Given the description of an element on the screen output the (x, y) to click on. 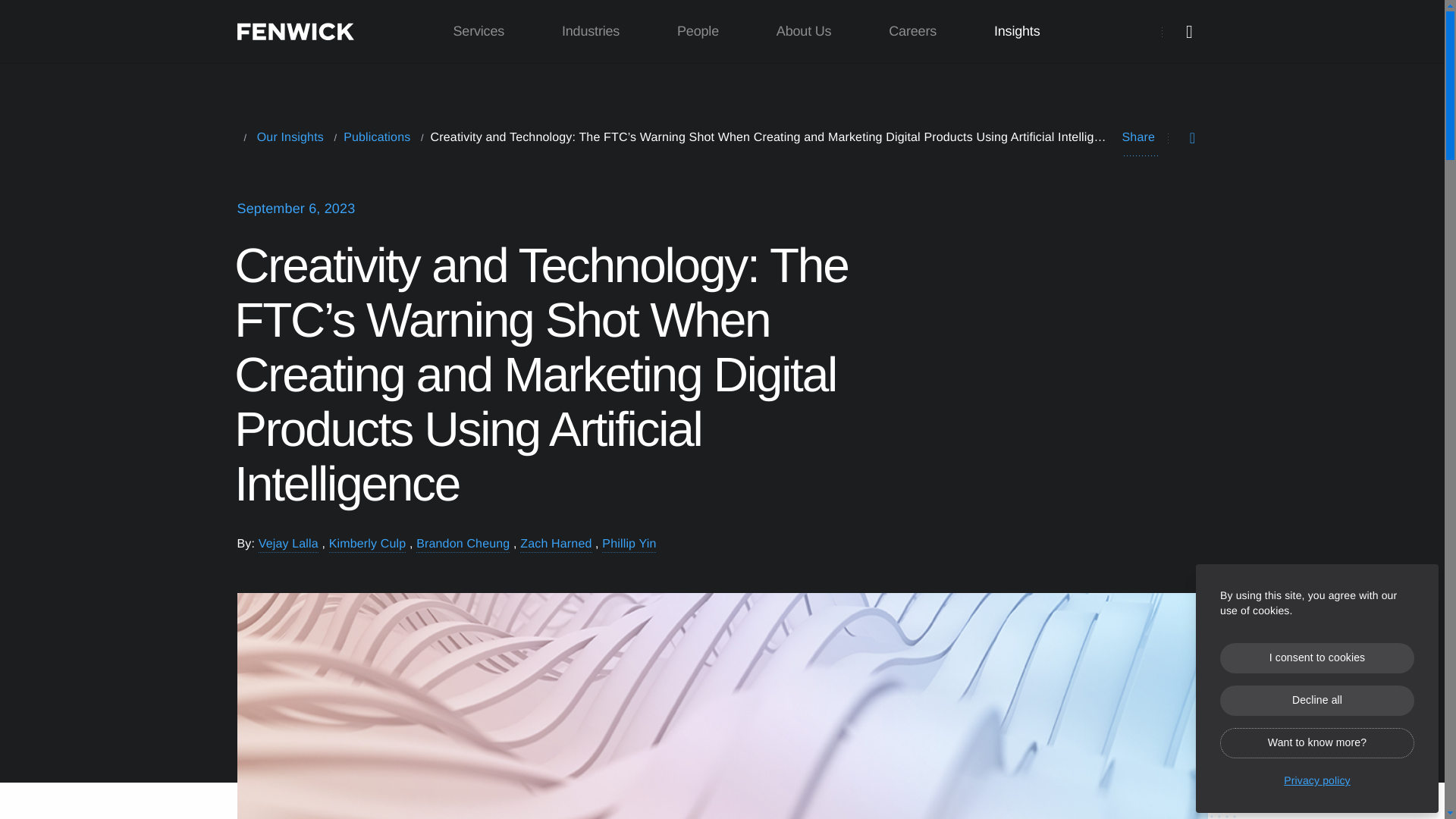
search icon (1188, 31)
decline all (1316, 700)
i consent to cookies (1316, 657)
privacy policy (1316, 776)
want to know more? (1316, 743)
Services (478, 31)
